Given the description of an element on the screen output the (x, y) to click on. 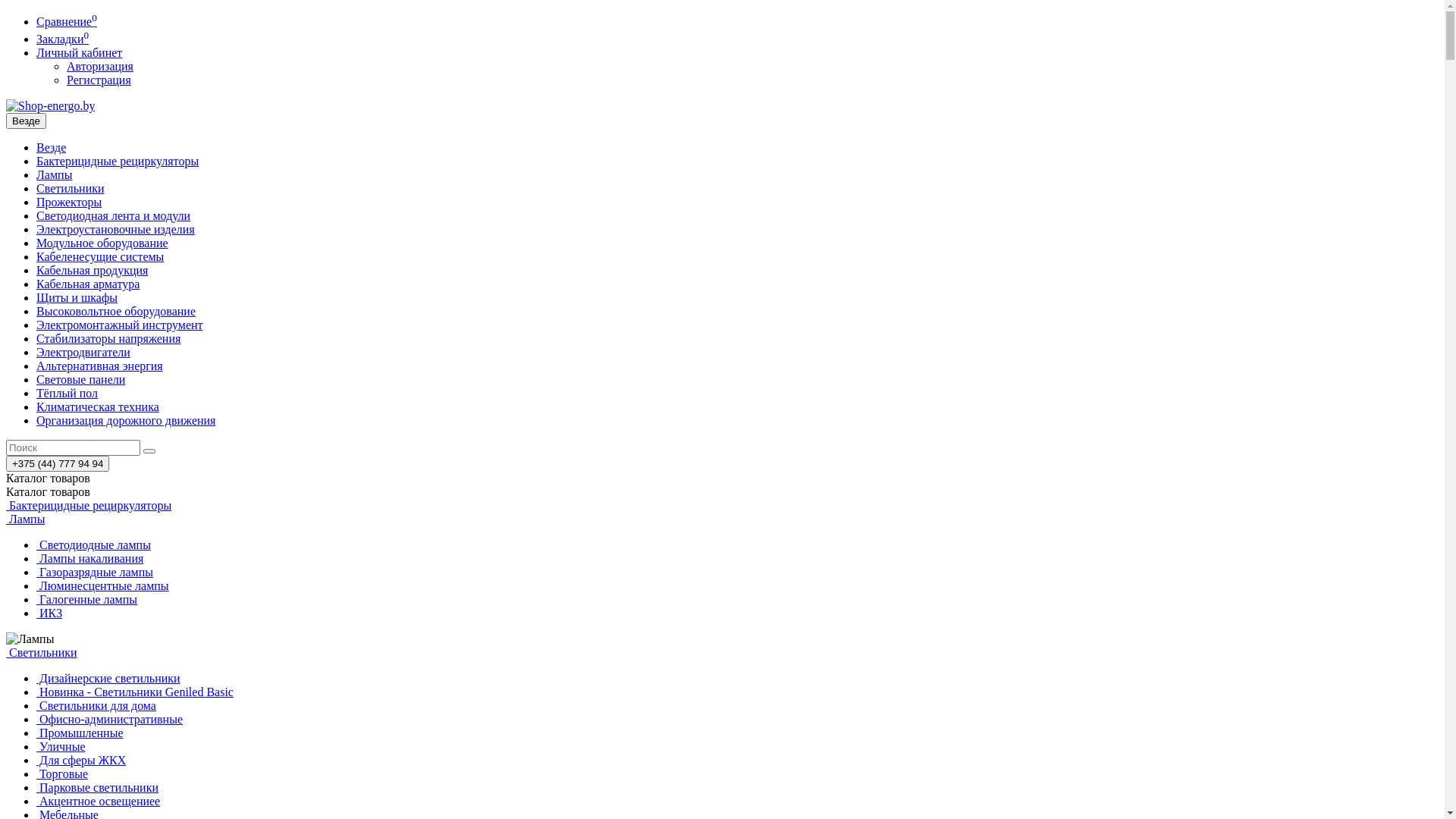
Shop-energo.by Element type: hover (50, 105)
+375 (44) 777 94 94 Element type: text (57, 463)
